Given the description of an element on the screen output the (x, y) to click on. 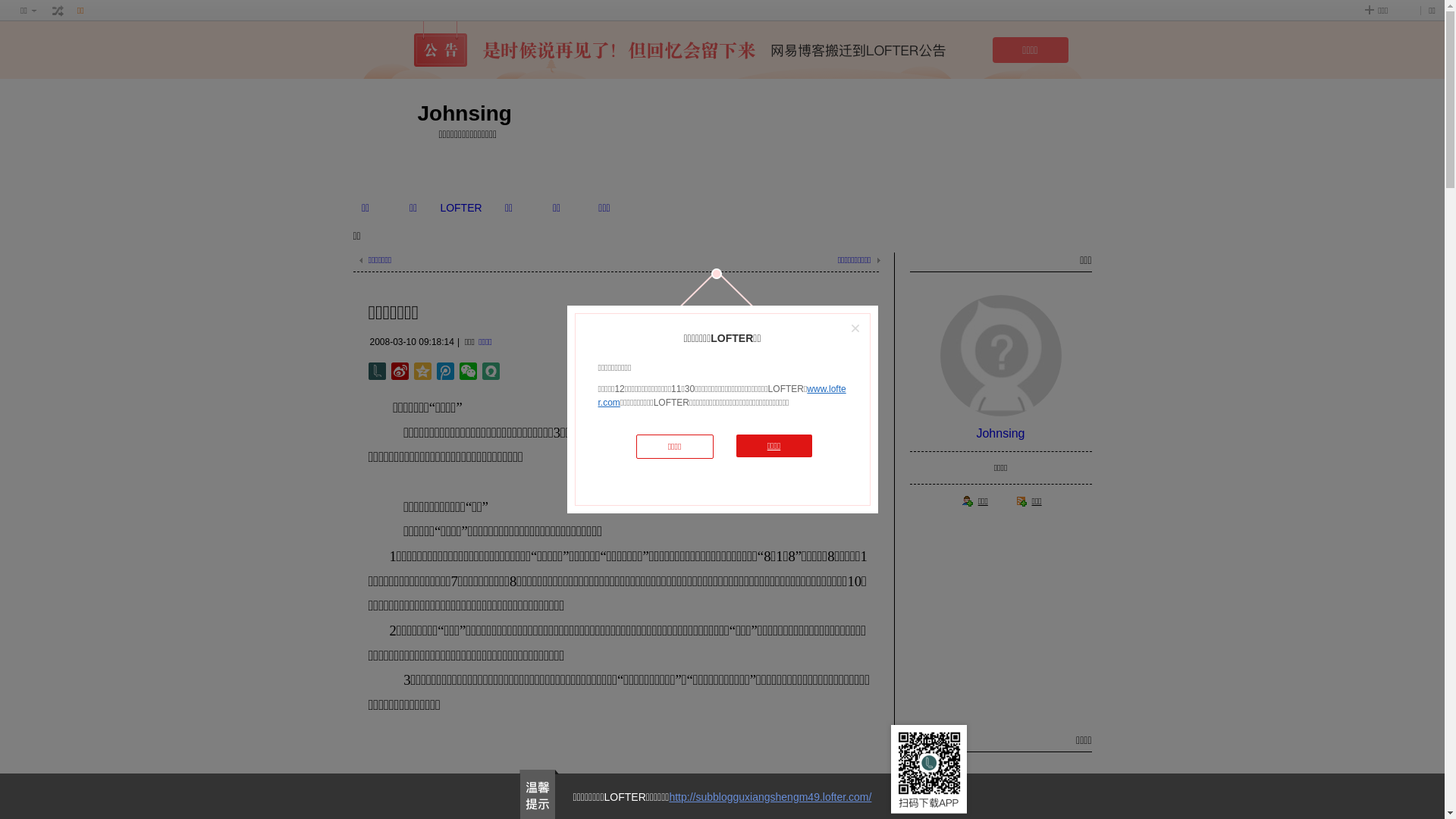
www.lofter.com Element type: text (721, 395)
LOFTER Element type: text (460, 207)
  Element type: text (58, 10)
Johnsing Element type: text (999, 432)
http://subblogguxiangshengm49.lofter.com/ Element type: text (769, 796)
